Given the description of an element on the screen output the (x, y) to click on. 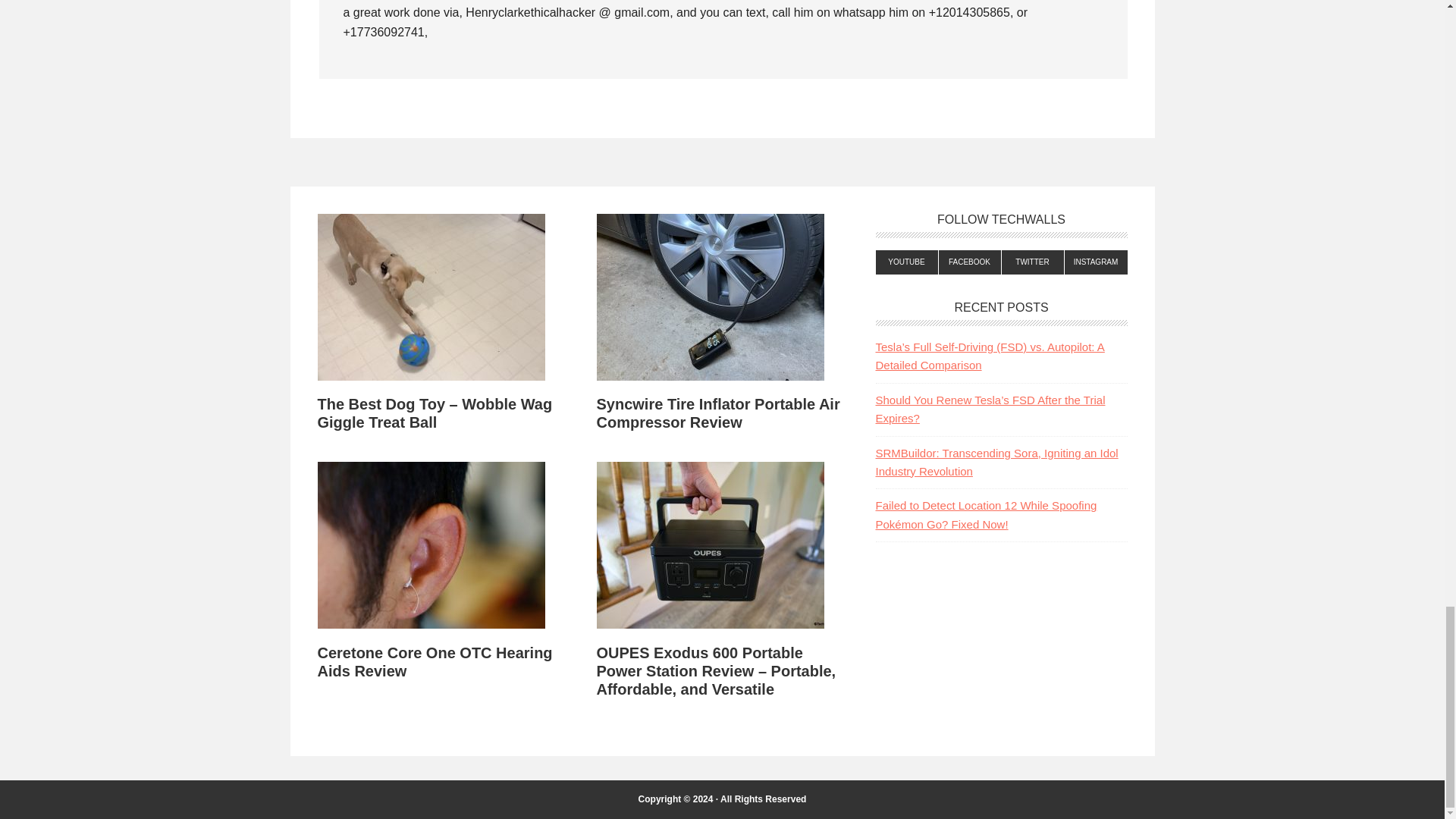
YOUTUBE (906, 262)
FACEBOOK (970, 262)
Syncwire Tire Inflator Portable Air Compressor Review (717, 412)
TWITTER (1032, 262)
Ceretone Core One OTC Hearing Aids Review (434, 661)
INSTAGRAM (1095, 262)
